Given the description of an element on the screen output the (x, y) to click on. 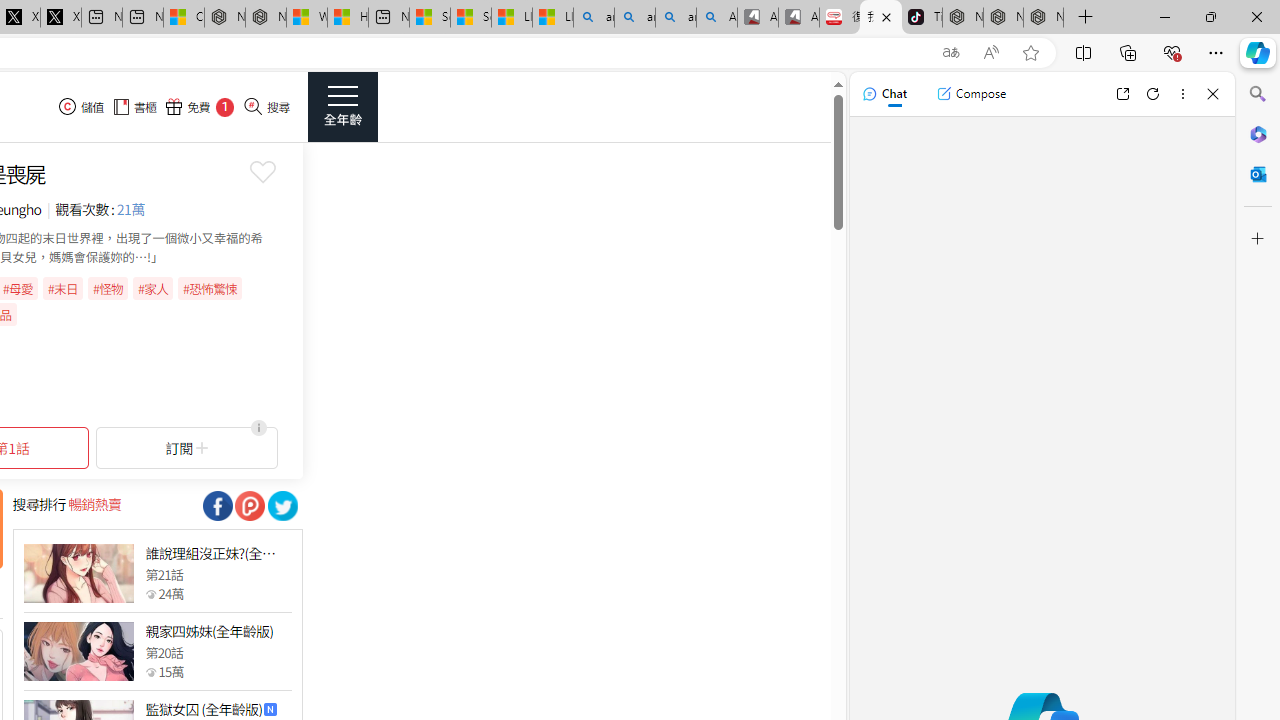
All Cubot phones (799, 17)
Huge shark washes ashore at New York City beach | Watch (347, 17)
Split screen (1083, 52)
Amazon Echo Robot - Search Images (717, 17)
Nordace - Summer Adventures 2024 (265, 17)
Outlook (1258, 174)
Refresh (1153, 93)
Wildlife - MSN (306, 17)
Open link in new tab (1122, 93)
